Given the description of an element on the screen output the (x, y) to click on. 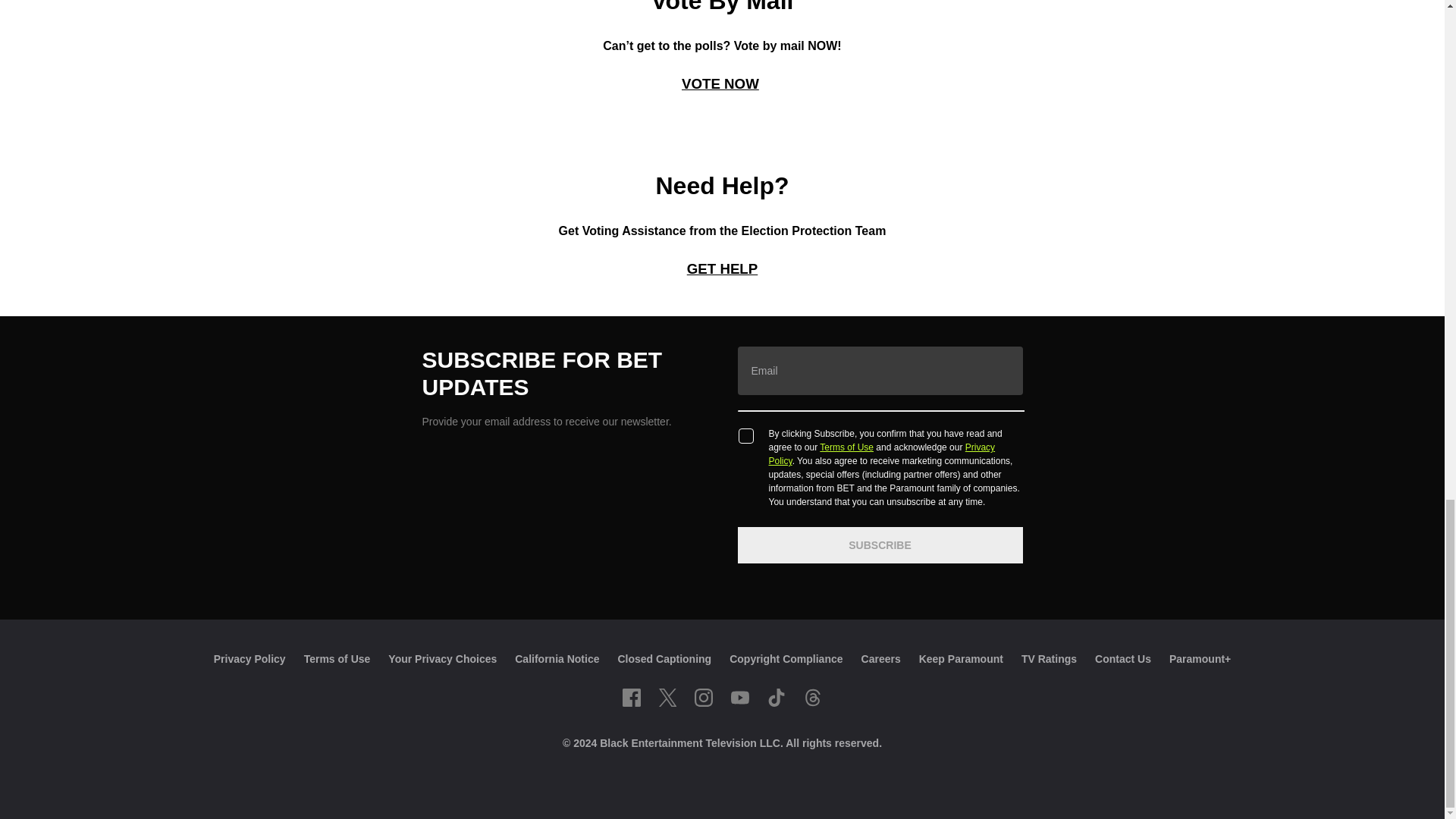
Facebook-icon (631, 697)
Careers (881, 658)
VOTE NOW (719, 83)
Privacy Policy (881, 454)
Your Privacy Choices (442, 658)
Copyright Compliance (786, 658)
Contact Us (1122, 658)
California Notice (556, 658)
GET HELP (722, 268)
SUBSCRIBE (879, 545)
Terms of Use (337, 658)
Privacy Policy (249, 658)
Terms of Use (846, 447)
Twitter-icon (668, 697)
Terms of Use (337, 658)
